Given the description of an element on the screen output the (x, y) to click on. 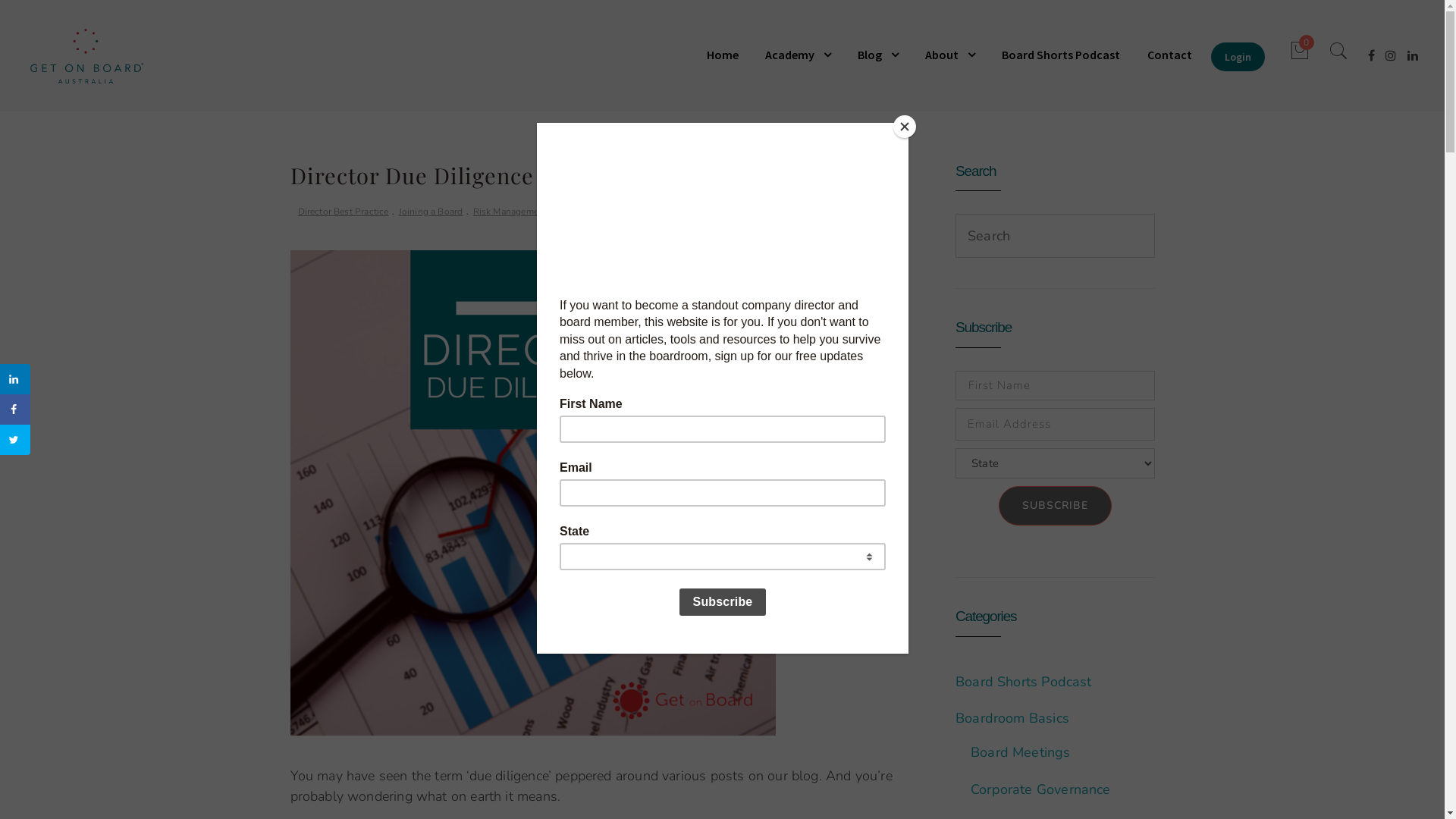
SUBSCRIBE Element type: text (1054, 505)
Corporate Governance Element type: text (1040, 789)
Risk Management Element type: text (510, 211)
Academy Element type: text (797, 54)
Share on Twitter Element type: hover (15, 439)
Search for: Element type: hover (1052, 235)
Login Element type: text (1237, 56)
Contact Element type: text (1169, 54)
About Element type: text (949, 54)
Joining a Board Element type: text (430, 211)
Board Shorts Podcast Element type: text (1060, 54)
Boardroom Basics Element type: text (1012, 718)
Board Shorts Podcast Element type: text (1023, 680)
Board Meetings Element type: text (1020, 752)
Home Element type: text (727, 54)
Blog Element type: text (878, 54)
Share on Facebook Element type: hover (15, 409)
Share on LinkedIn Element type: hover (15, 379)
Director Best Practice Element type: text (342, 211)
